Given the description of an element on the screen output the (x, y) to click on. 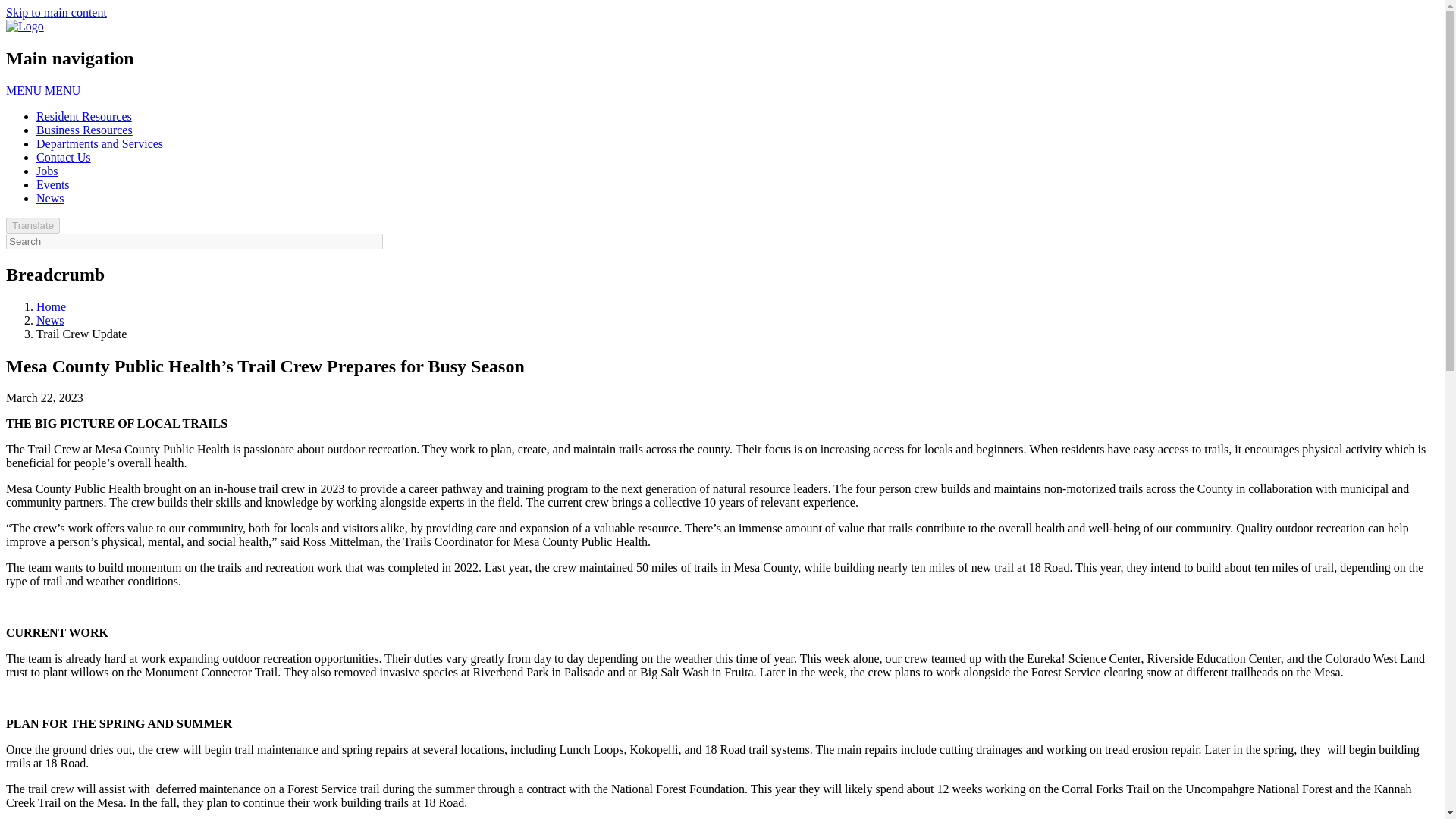
Departments and Services (99, 143)
Events (52, 184)
Contact Us (63, 156)
Home (50, 306)
search (193, 241)
MENU MENU (42, 90)
Jobs (47, 170)
Business Resources (84, 129)
News (50, 197)
Translate (32, 225)
